Given the description of an element on the screen output the (x, y) to click on. 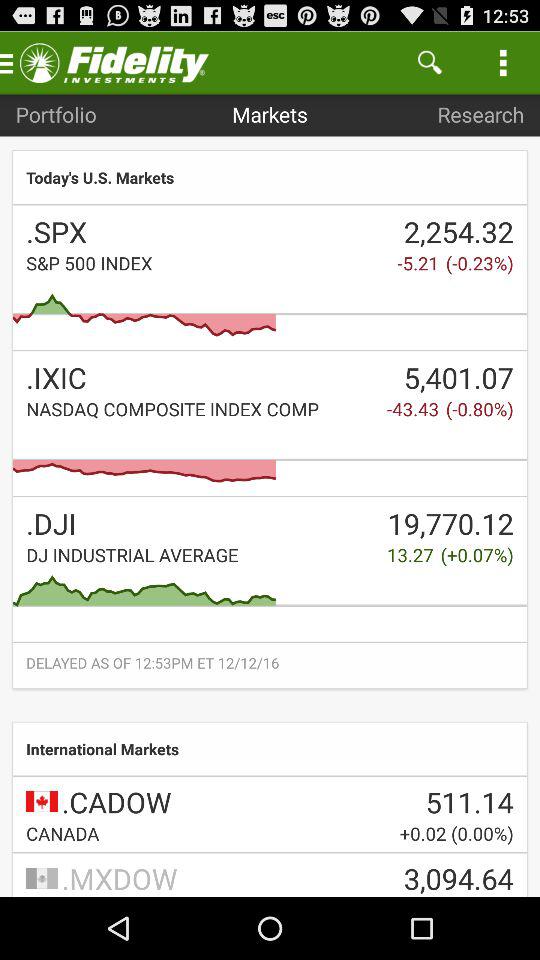
choose the portfolio icon (55, 114)
